Given the description of an element on the screen output the (x, y) to click on. 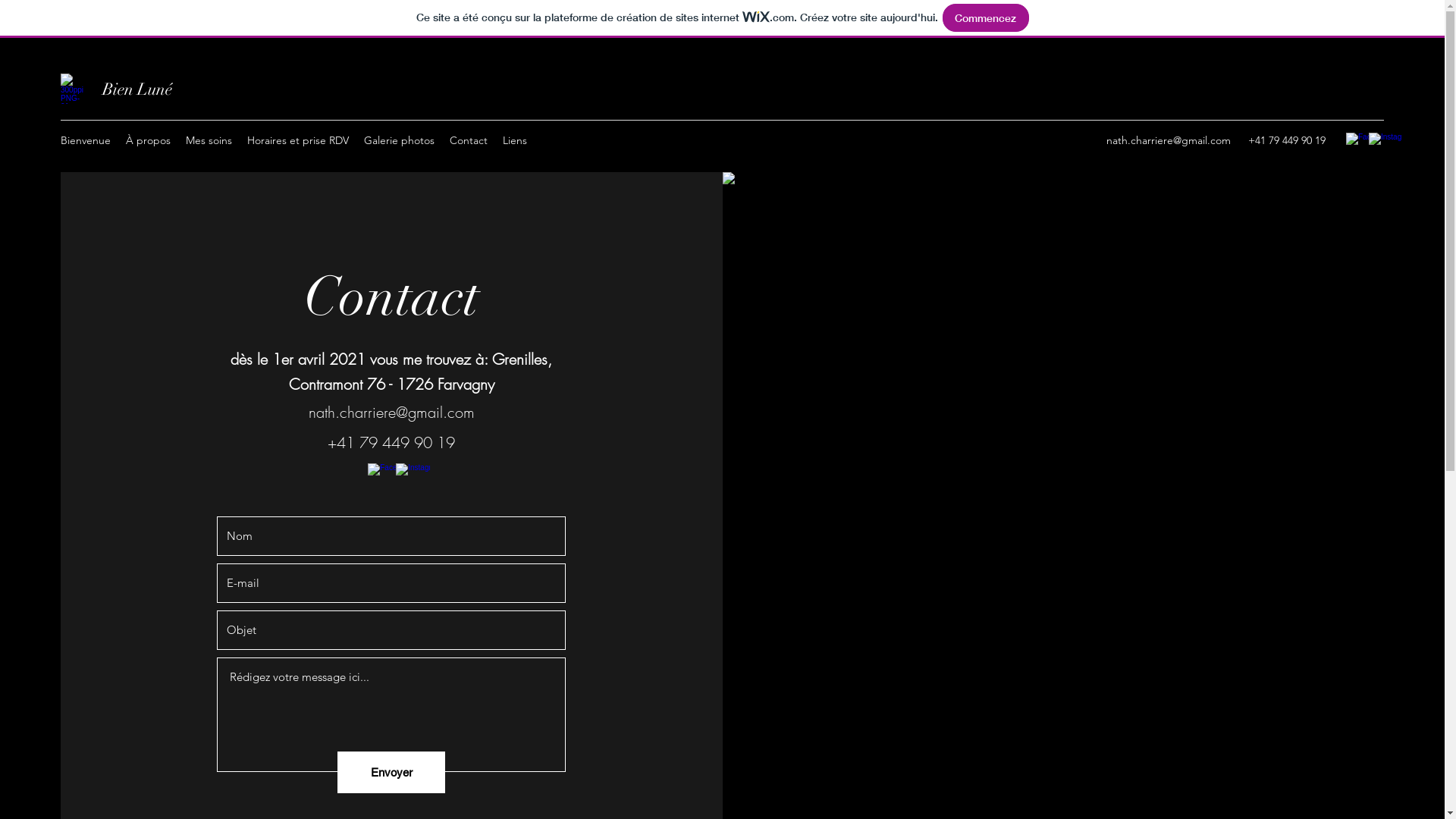
Contact Element type: text (468, 139)
Envoyer Element type: text (391, 772)
nath.charriere@gmail.com Element type: text (1168, 140)
Horaires et prise RDV Element type: text (297, 139)
Liens Element type: text (514, 139)
Galerie photos Element type: text (399, 139)
Mes soins Element type: text (208, 139)
nath.charriere@gmail.com Element type: text (391, 411)
Bienvenue Element type: text (85, 139)
